Given the description of an element on the screen output the (x, y) to click on. 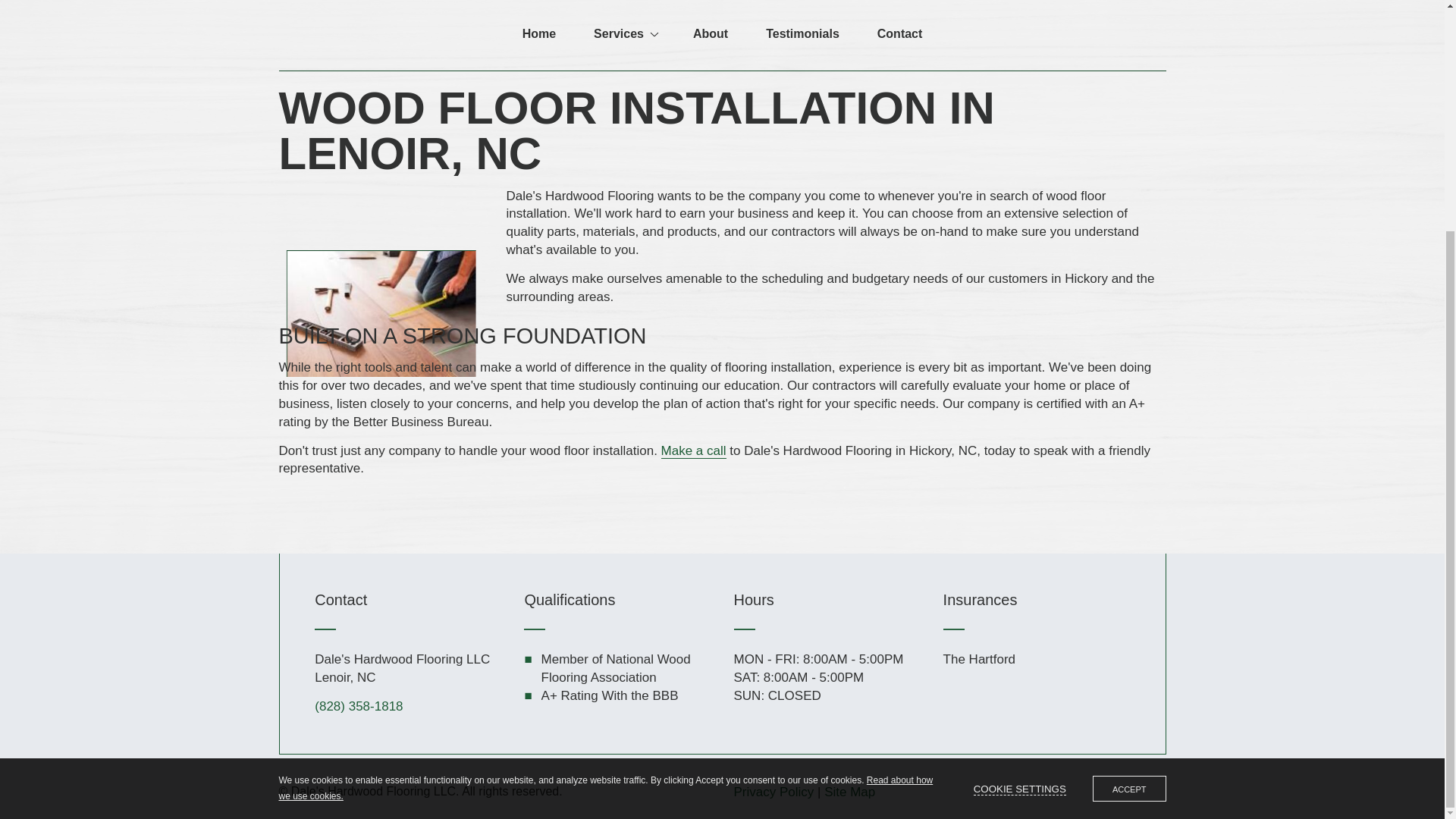
Site Map (849, 792)
Read about how we use cookies. (606, 475)
Make a call (693, 450)
Privacy Policy (773, 792)
COOKIE SETTINGS (1019, 476)
Wood Flooring Installation (380, 313)
ACCEPT (1129, 475)
